Given the description of an element on the screen output the (x, y) to click on. 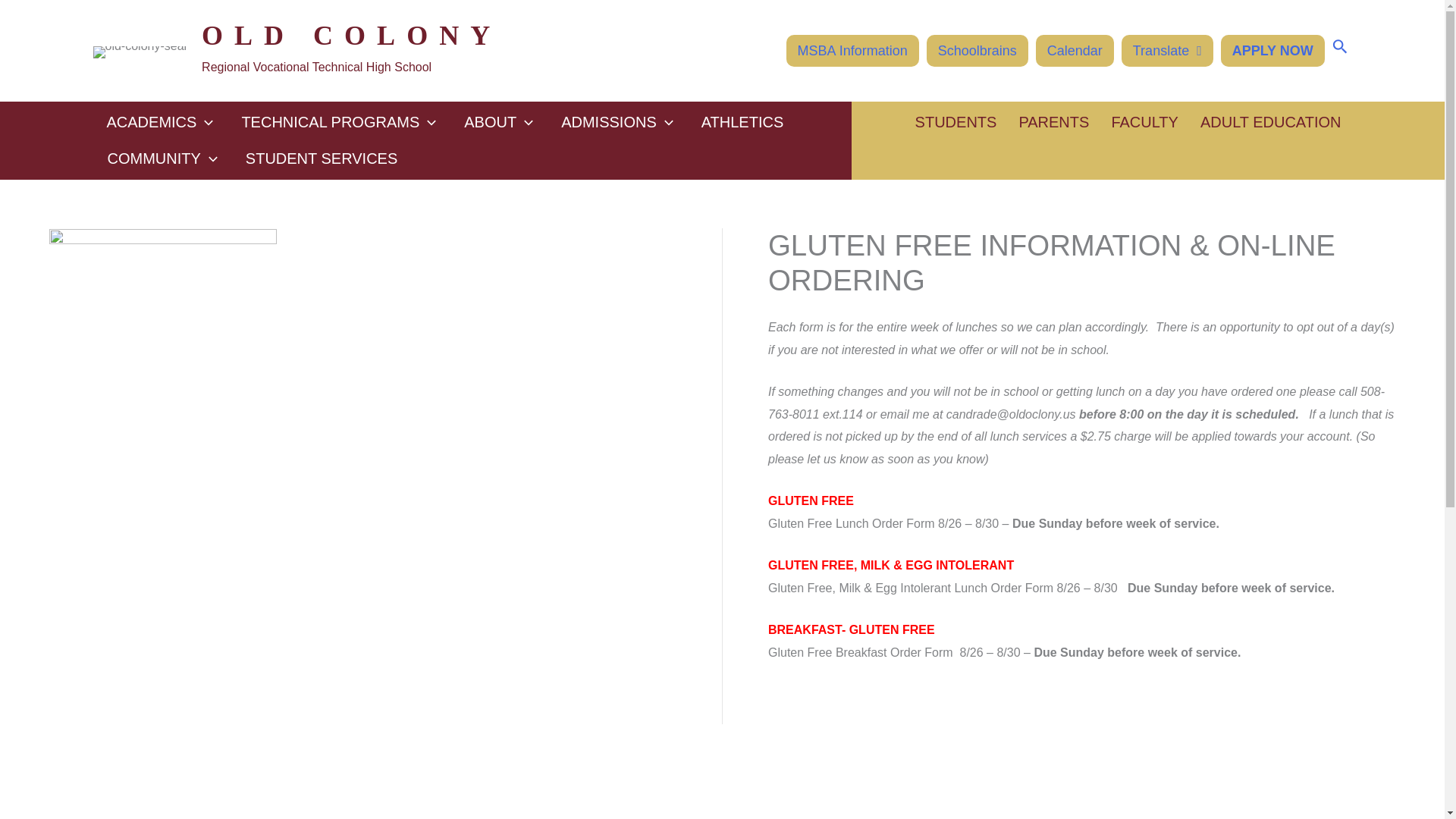
Search (1340, 47)
old-colony-seal (139, 51)
MSBA Information (852, 50)
APPLY NOW (1272, 50)
Translate (1166, 50)
ACADEMICS (160, 122)
Schoolbrains (976, 50)
Calendar (1074, 50)
TECHNICAL PROGRAMS (338, 122)
